Given the description of an element on the screen output the (x, y) to click on. 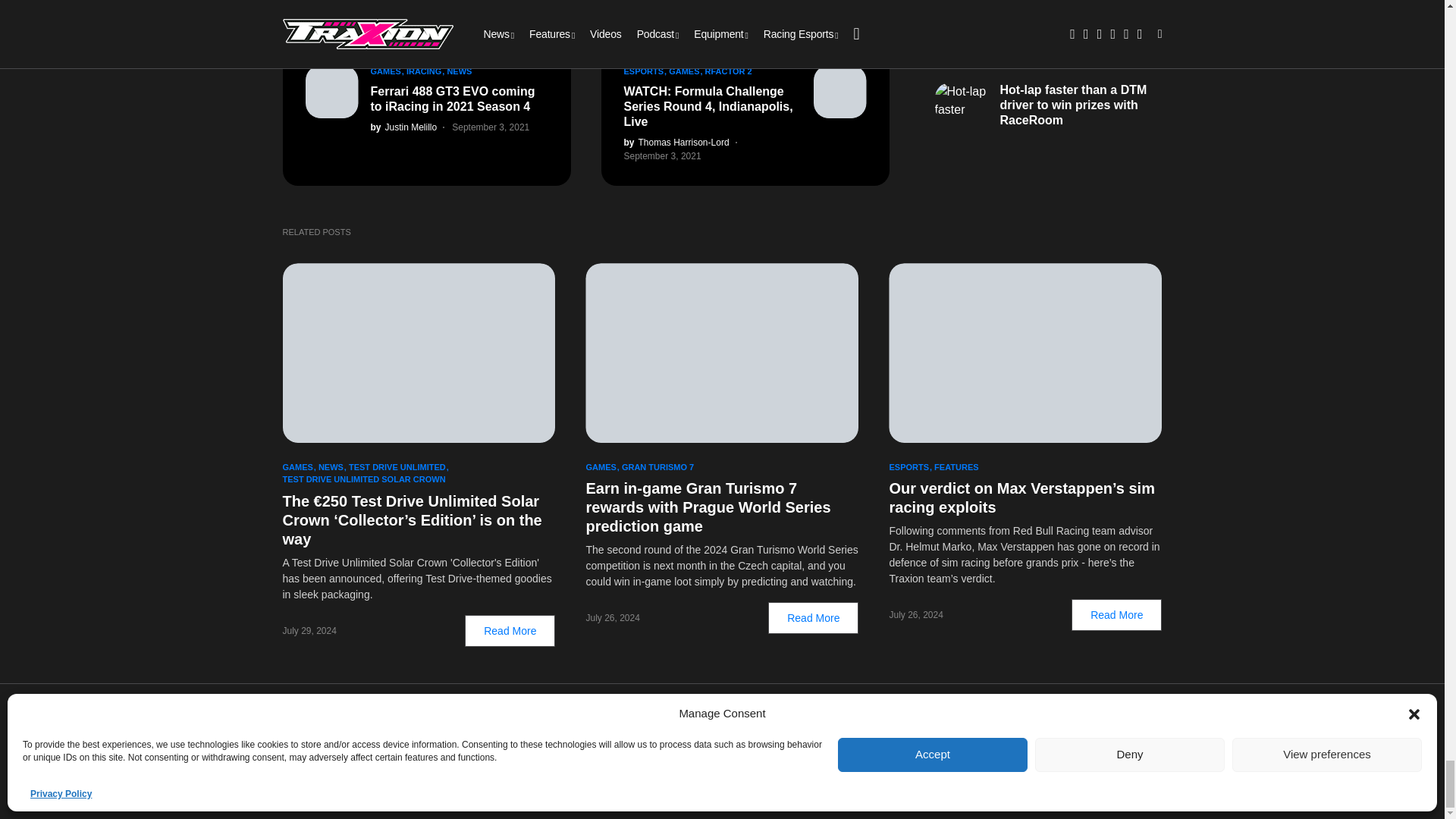
View all posts by Thomas Harrison-Lord (676, 142)
View all posts by Justin Melillo (402, 127)
